Given the description of an element on the screen output the (x, y) to click on. 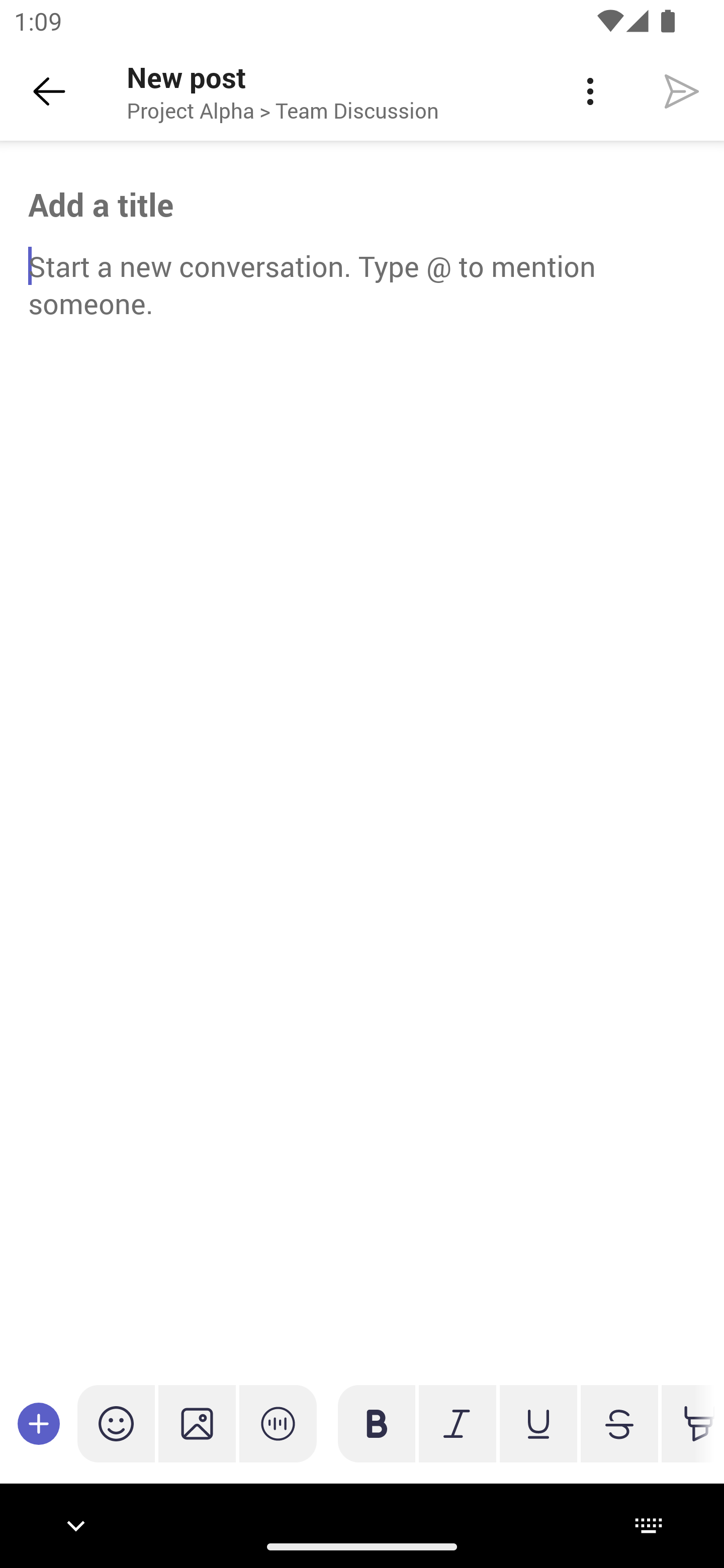
Back (49, 91)
Email options (589, 91)
Send message (681, 90)
Add a title (362, 204)
Compose options, collapsed (38, 1423)
GIFs and emojis picker (115, 1423)
Media (197, 1423)
Record audio message (278, 1423)
Bold (376, 1423)
Italic (456, 1423)
Underline (538, 1423)
Strikethrough (619, 1423)
Select text highlight color (688, 1423)
